Given the description of an element on the screen output the (x, y) to click on. 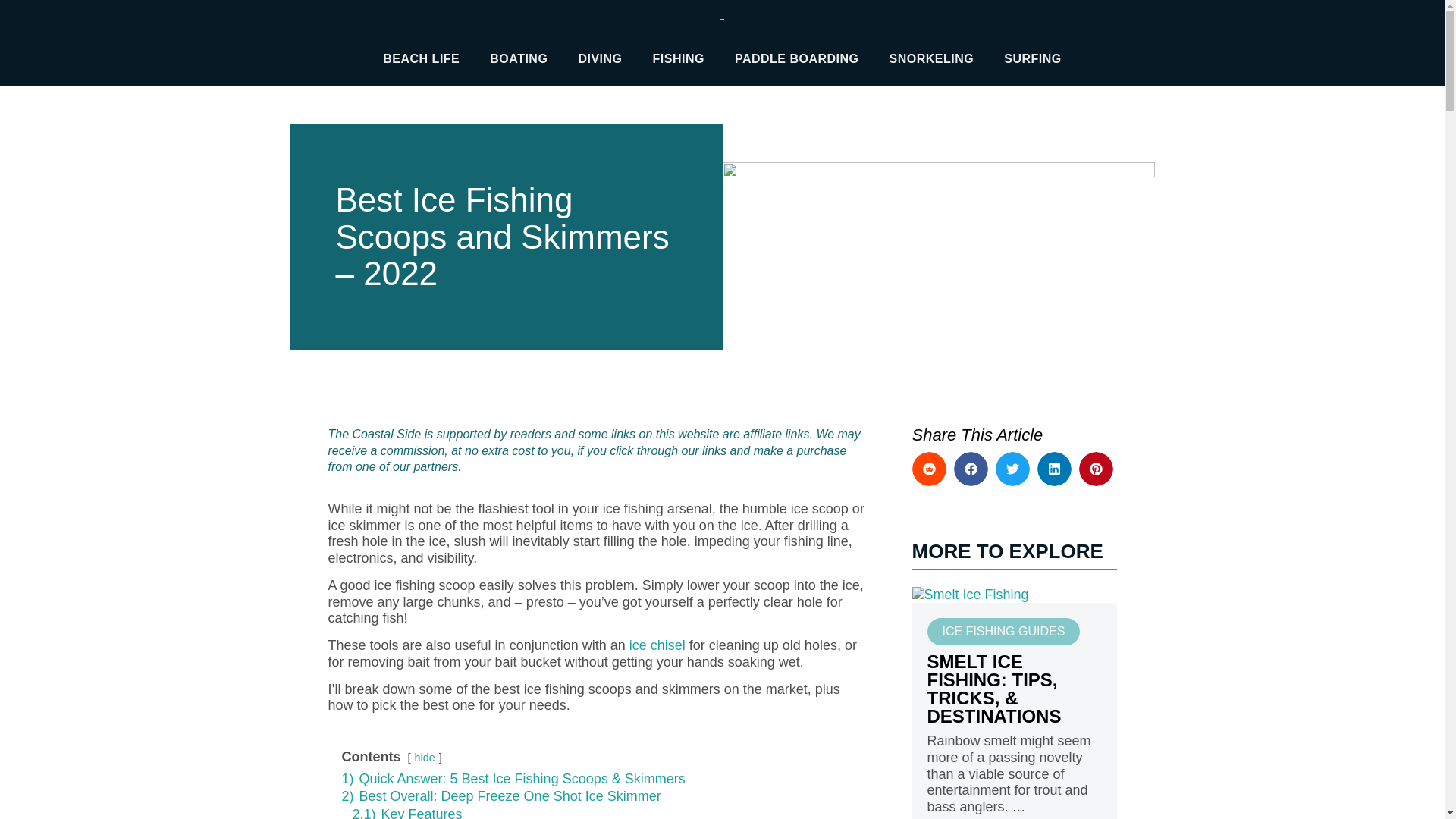
BOATING (518, 59)
PADDLE BOARDING (797, 59)
SURFING (1032, 59)
SNORKELING (932, 59)
BEACH LIFE (421, 59)
FISHING (678, 59)
DIVING (599, 59)
